Given the description of an element on the screen output the (x, y) to click on. 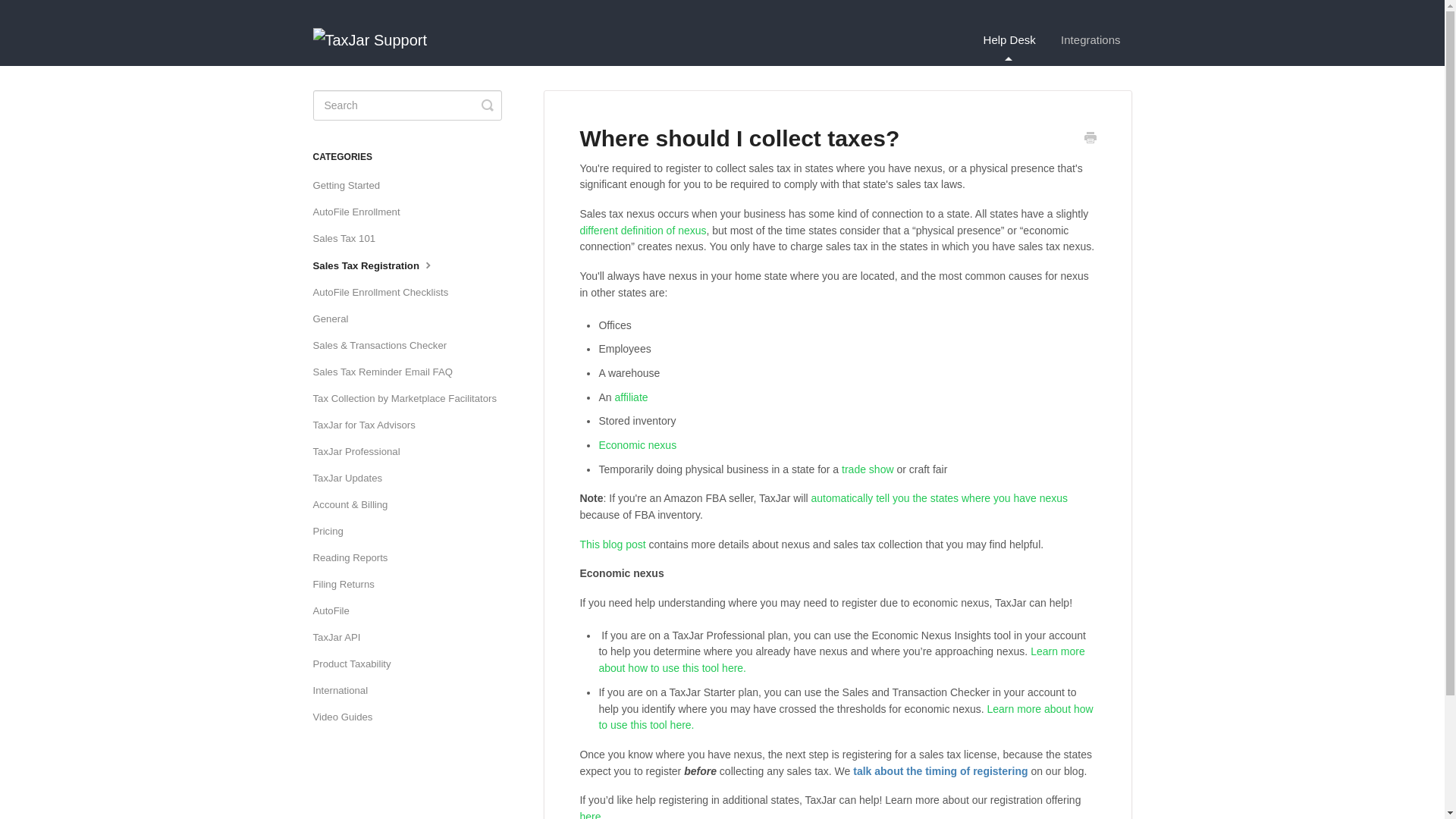
affiliate (630, 397)
AutoFile (336, 610)
Sales Tax Reminder Email FAQ (388, 372)
automatically tell you the states where you have nexus (939, 498)
Help Desk (1009, 39)
Sales Tax Registration (379, 265)
AutoFile Enrollment (361, 211)
International (345, 690)
General (336, 319)
TaxJar API (342, 637)
